Given the description of an element on the screen output the (x, y) to click on. 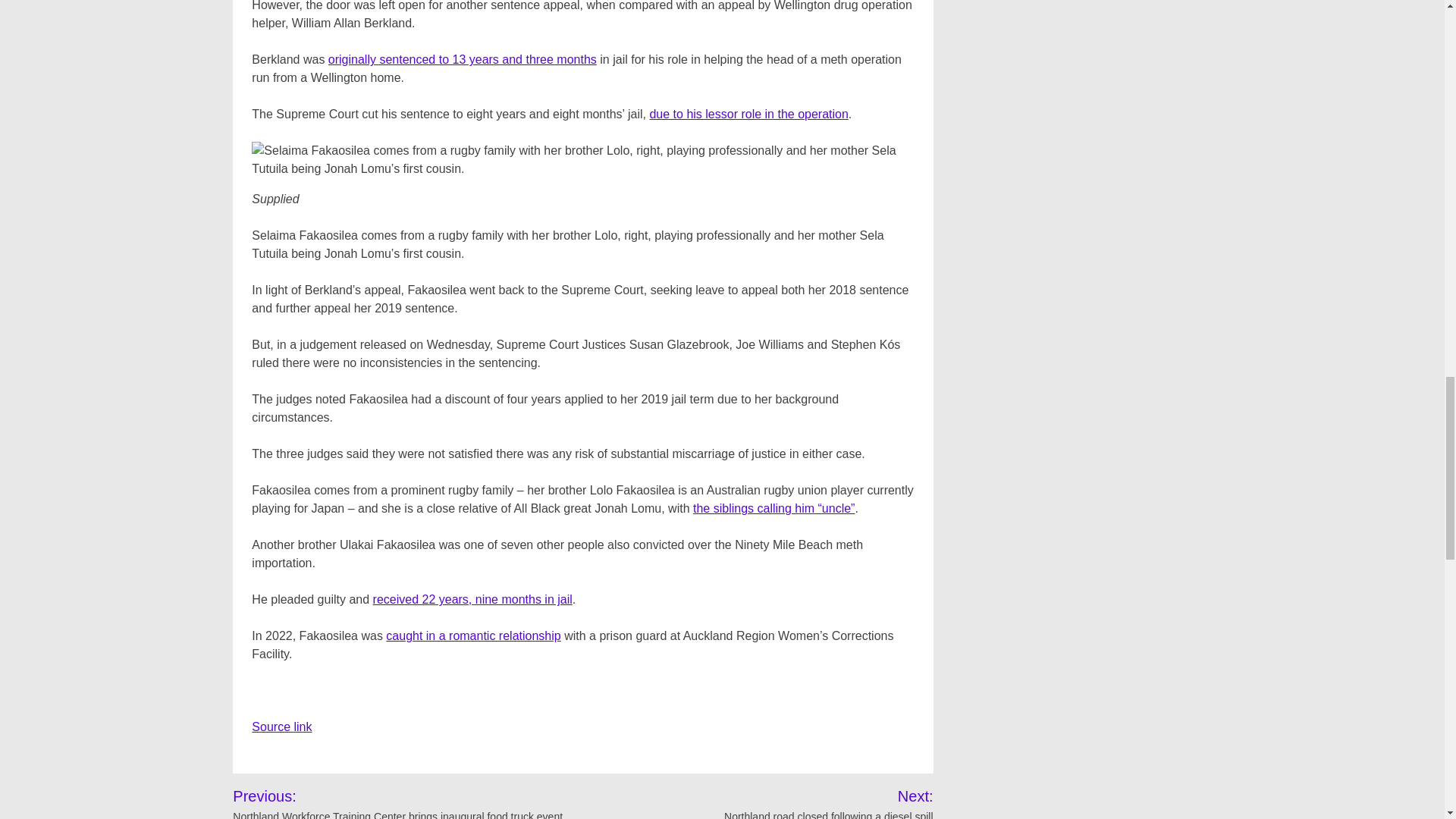
caught in a romantic relationship (472, 635)
received 22 years, nine months in jail (472, 599)
Source link (281, 726)
originally sentenced to 13 years and three months (462, 59)
due to his lessor role in the operation (748, 113)
Next: Northland road closed following a diesel spill (809, 801)
